Given the description of an element on the screen output the (x, y) to click on. 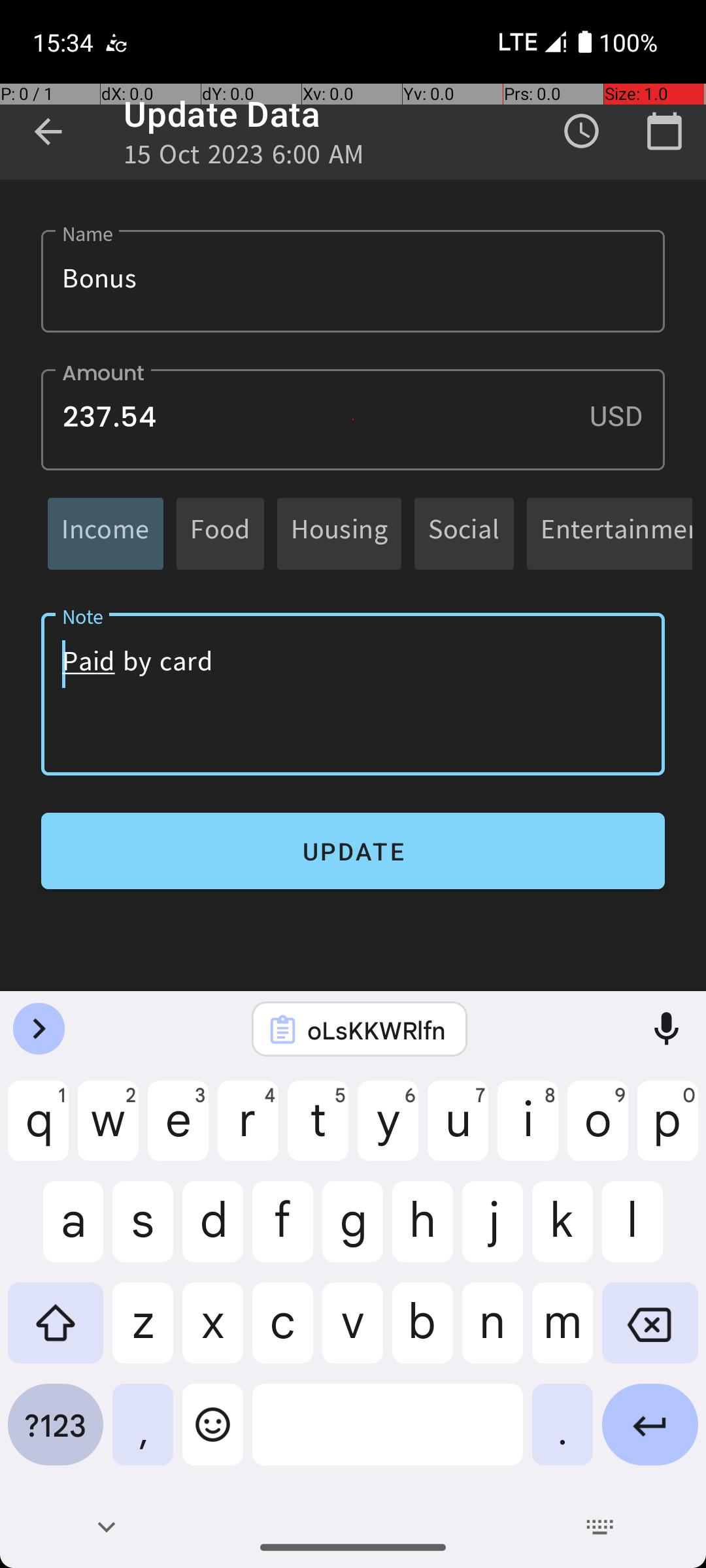
15 Oct 2023 6:00 AM Element type: android.widget.TextView (243, 157)
Bonus Element type: android.widget.EditText (352, 280)
237.54 Element type: android.widget.EditText (352, 419)
oLsKKWRlfn Element type: android.widget.TextView (376, 1029)
